Given the description of an element on the screen output the (x, y) to click on. 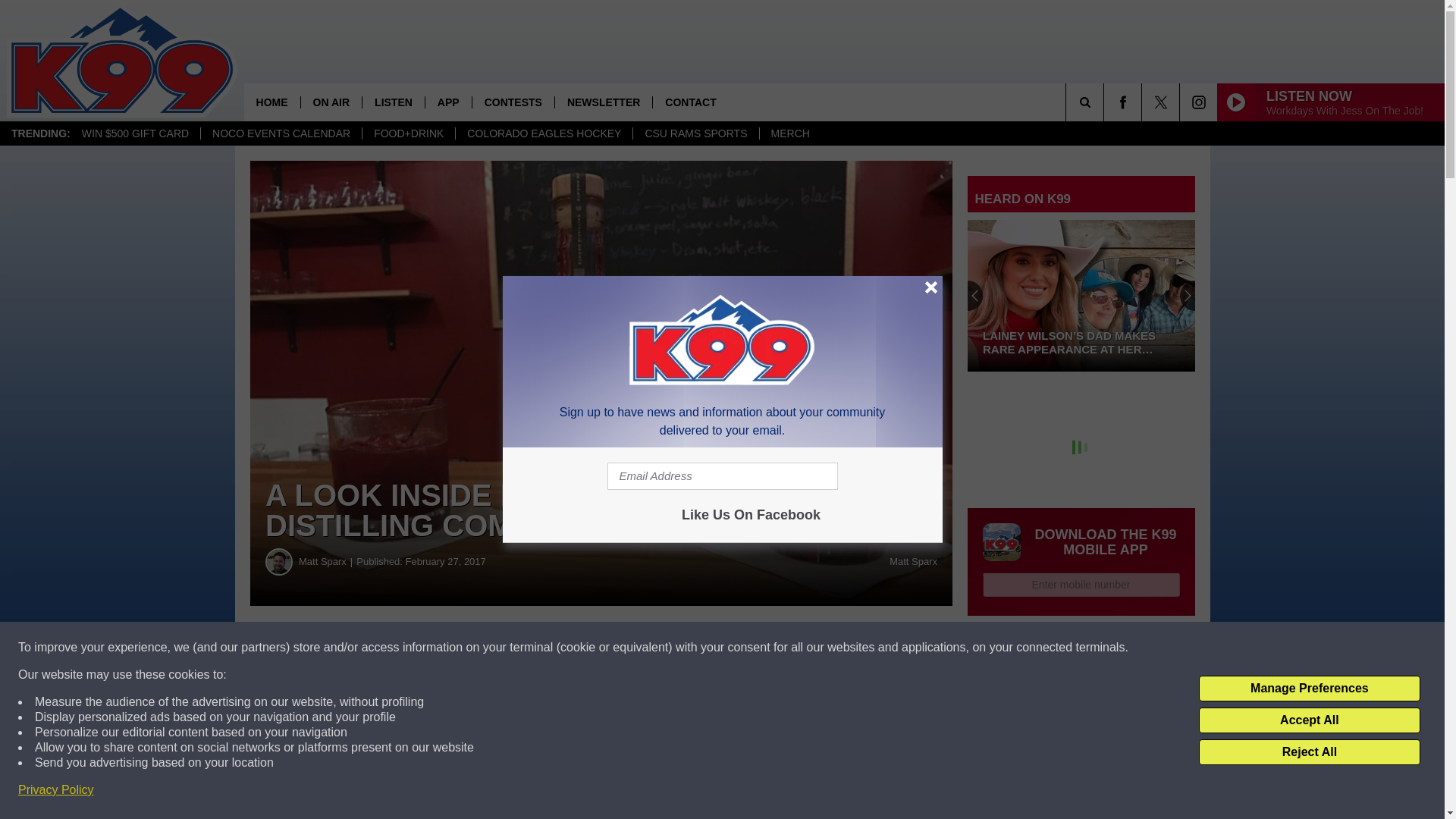
SEARCH (1106, 102)
SEARCH (1106, 102)
HOME (271, 102)
Privacy Policy (55, 789)
CSU RAMS SPORTS (694, 133)
Share on Twitter (741, 647)
Email Address (722, 475)
CONTESTS (512, 102)
Manage Preferences (1309, 688)
COLORADO EAGLES HOCKEY (542, 133)
LISTEN (393, 102)
NEWSLETTER (603, 102)
MERCH (789, 133)
CONTACT (690, 102)
APP (448, 102)
